Given the description of an element on the screen output the (x, y) to click on. 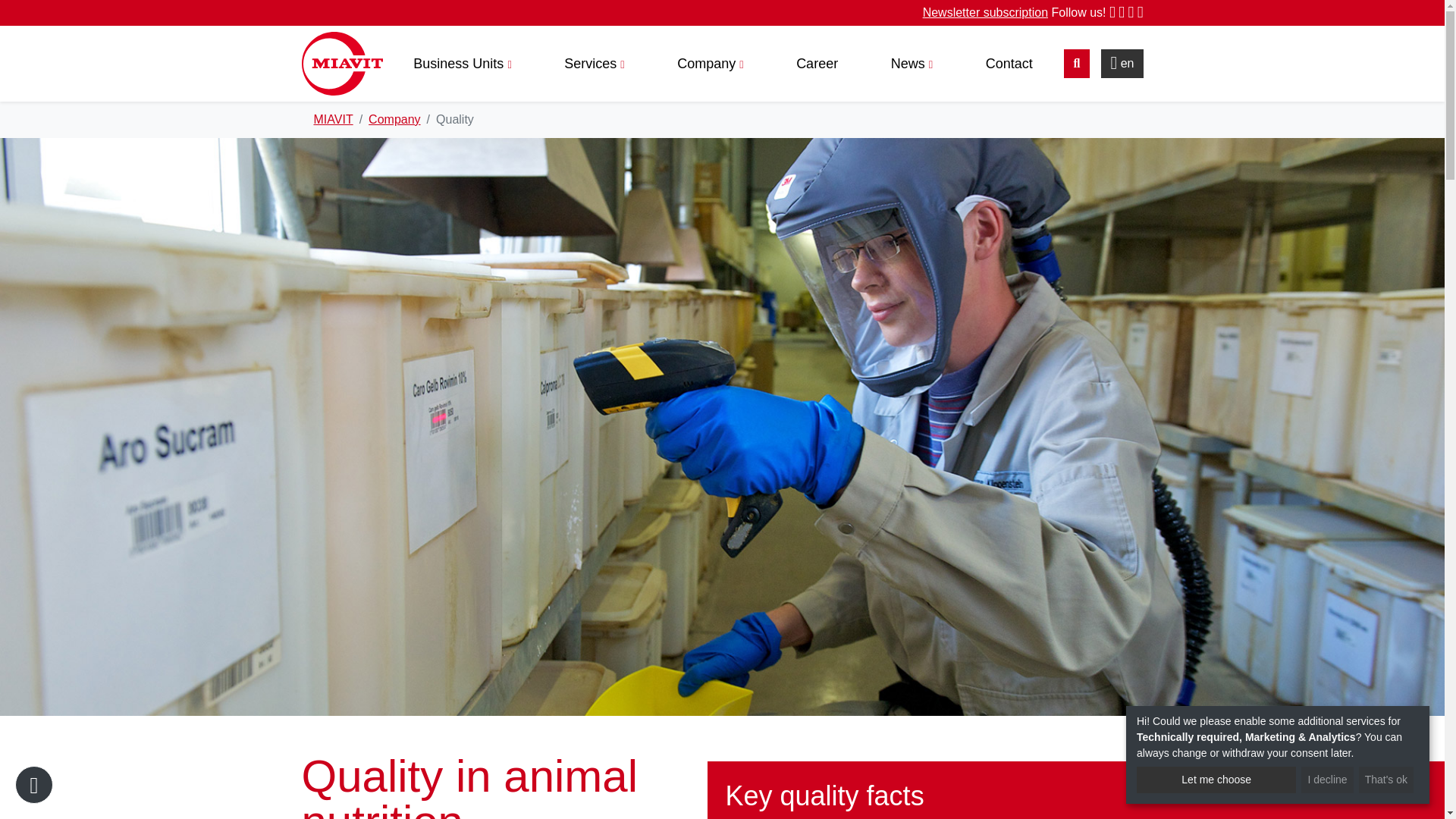
Company (710, 62)
Business Units (461, 62)
Newsletter subscription (985, 11)
News (912, 62)
News (912, 62)
Career (817, 62)
Services (593, 62)
MIAVIT (333, 119)
Company (394, 119)
Services (593, 62)
